Given the description of an element on the screen output the (x, y) to click on. 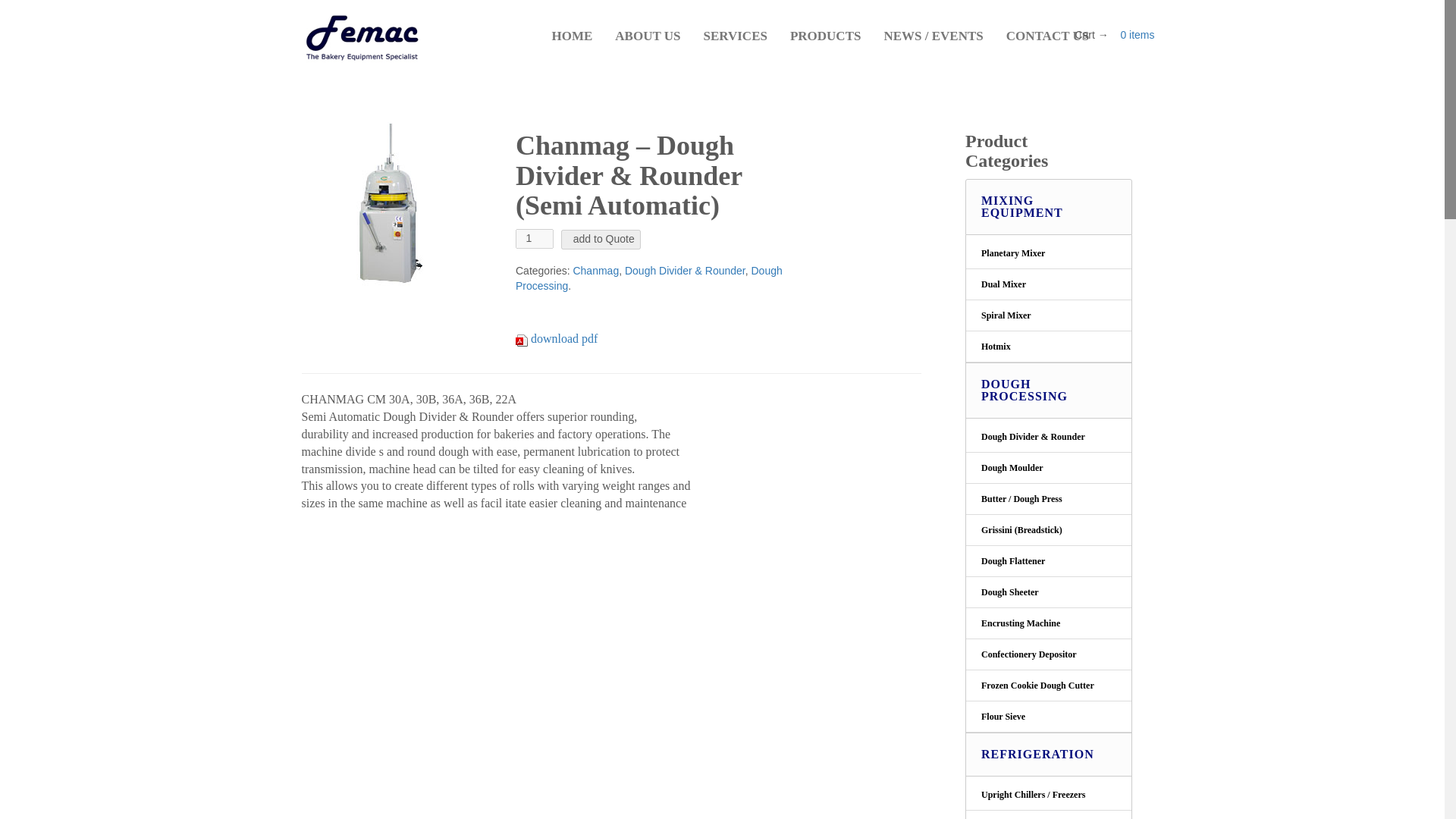
HOME (572, 36)
Encrusting Machine (1048, 623)
Hotmix (1048, 346)
Spiral Mixer (1048, 315)
PRODUCTS (825, 36)
Planetary Mixer (1048, 252)
MIXING EQUIPMENT (1048, 207)
Dough Sheeter (1048, 592)
1 (534, 238)
PRODUCTS (825, 36)
Flour Sieve (1048, 716)
Dough Processing (649, 277)
0 items (1136, 34)
View your shopping cart (1136, 34)
CONTACT US (1047, 36)
